Given the description of an element on the screen output the (x, y) to click on. 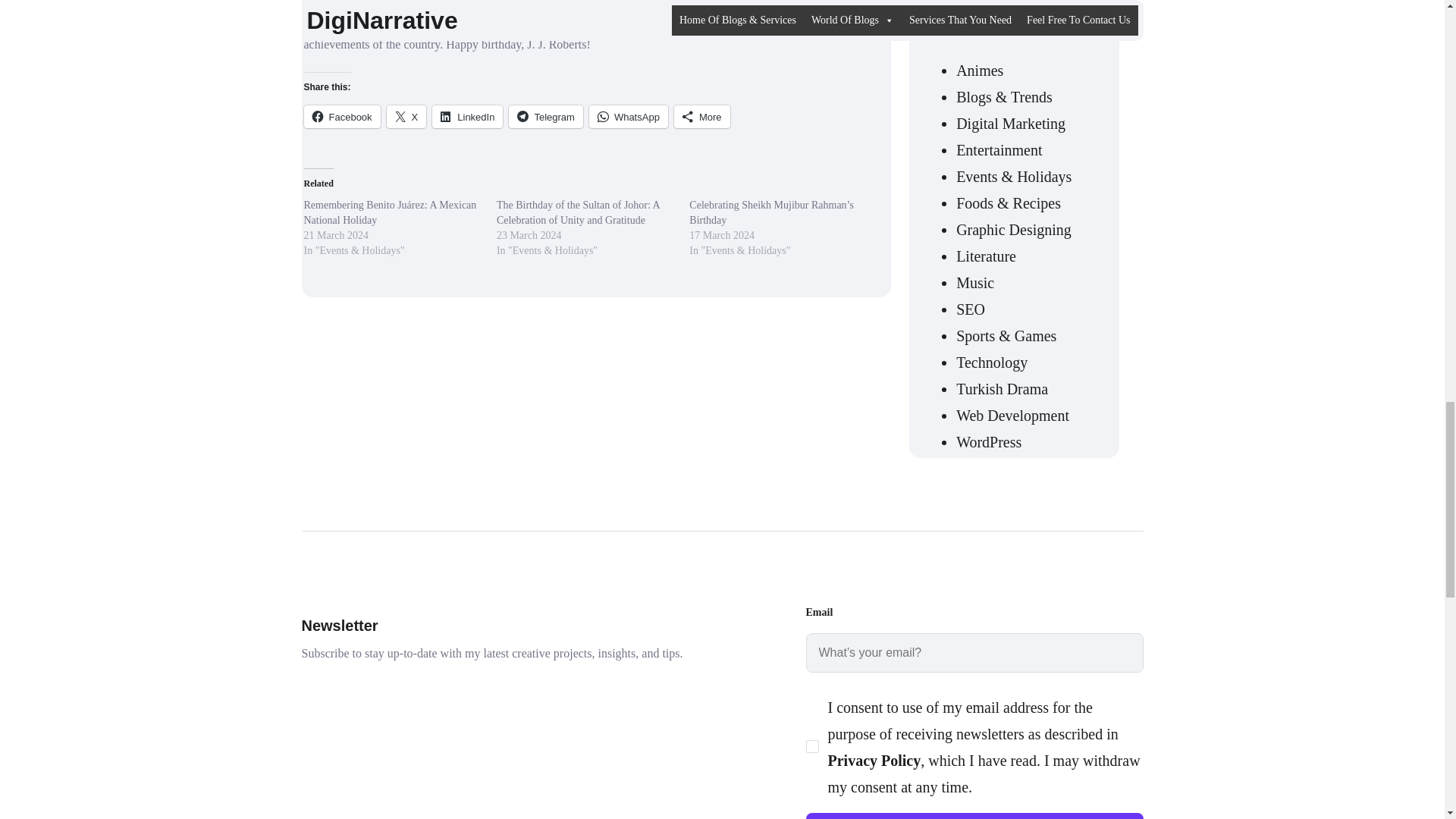
Telegram (545, 116)
Click to share on Telegram (545, 116)
WhatsApp (628, 116)
Facebook (341, 116)
Click to share on LinkedIn (467, 116)
Click to share on WhatsApp (628, 116)
X (406, 116)
More (702, 116)
Subscribe (973, 816)
Click to share on Facebook (341, 116)
